Given the description of an element on the screen output the (x, y) to click on. 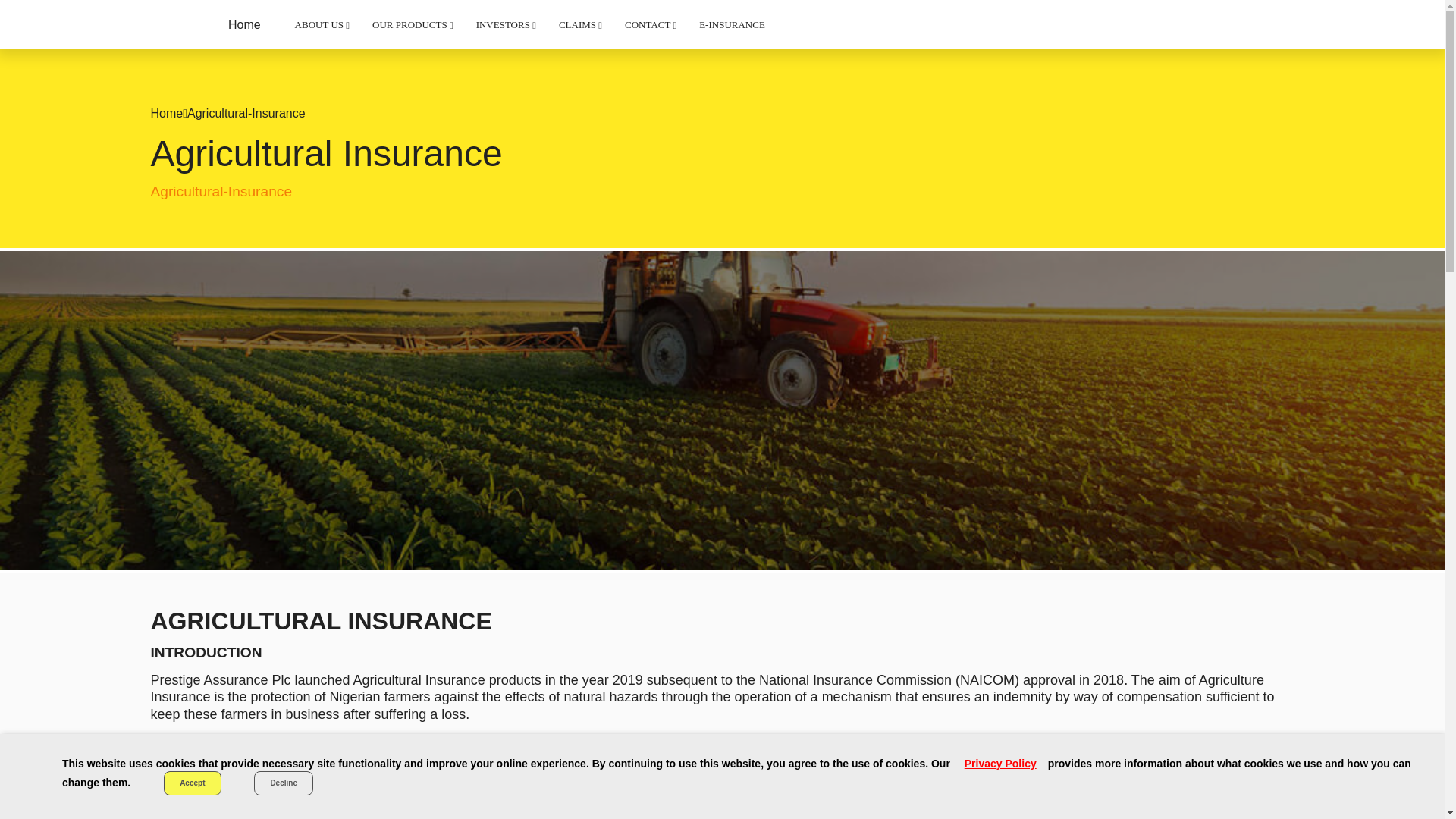
ABOUT US (322, 24)
Home (249, 24)
OUR PRODUCTS (412, 24)
